Given the description of an element on the screen output the (x, y) to click on. 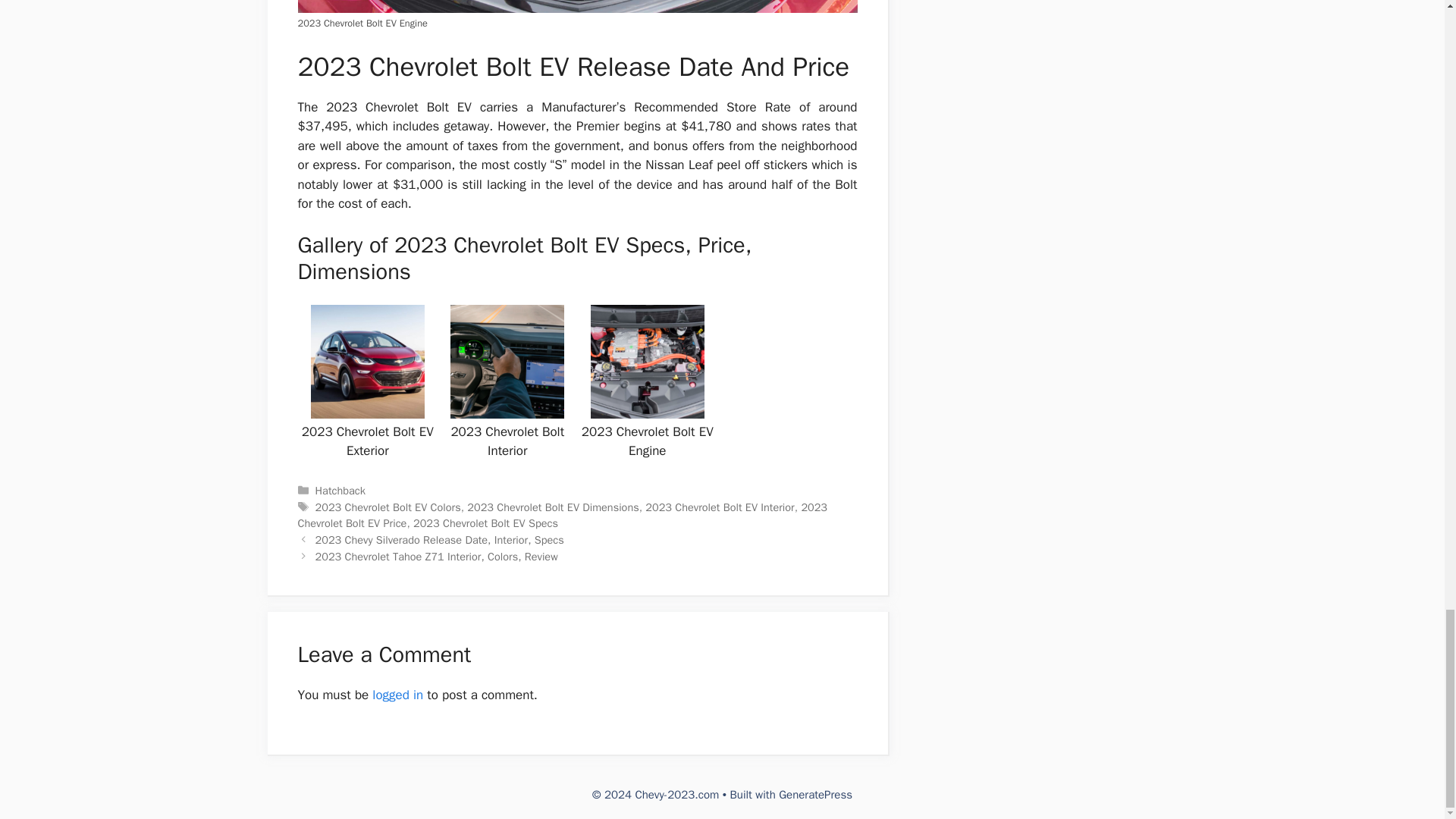
logged in (397, 694)
2023 Chevrolet Bolt EV Dimensions (553, 507)
2023 Chevrolet Bolt EV Interior (719, 507)
2023 Chevrolet Bolt EV Specs (485, 522)
GeneratePress (814, 794)
2023 Chevrolet Tahoe Z71 Interior, Colors, Review (436, 556)
Hatchback (340, 490)
2023 Chevrolet Bolt EV Price (562, 515)
2023 Chevrolet Bolt EV Colors (388, 507)
Previous (439, 540)
2023 Chevy Silverado Release Date, Interior, Specs (439, 540)
Next (436, 556)
